Given the description of an element on the screen output the (x, y) to click on. 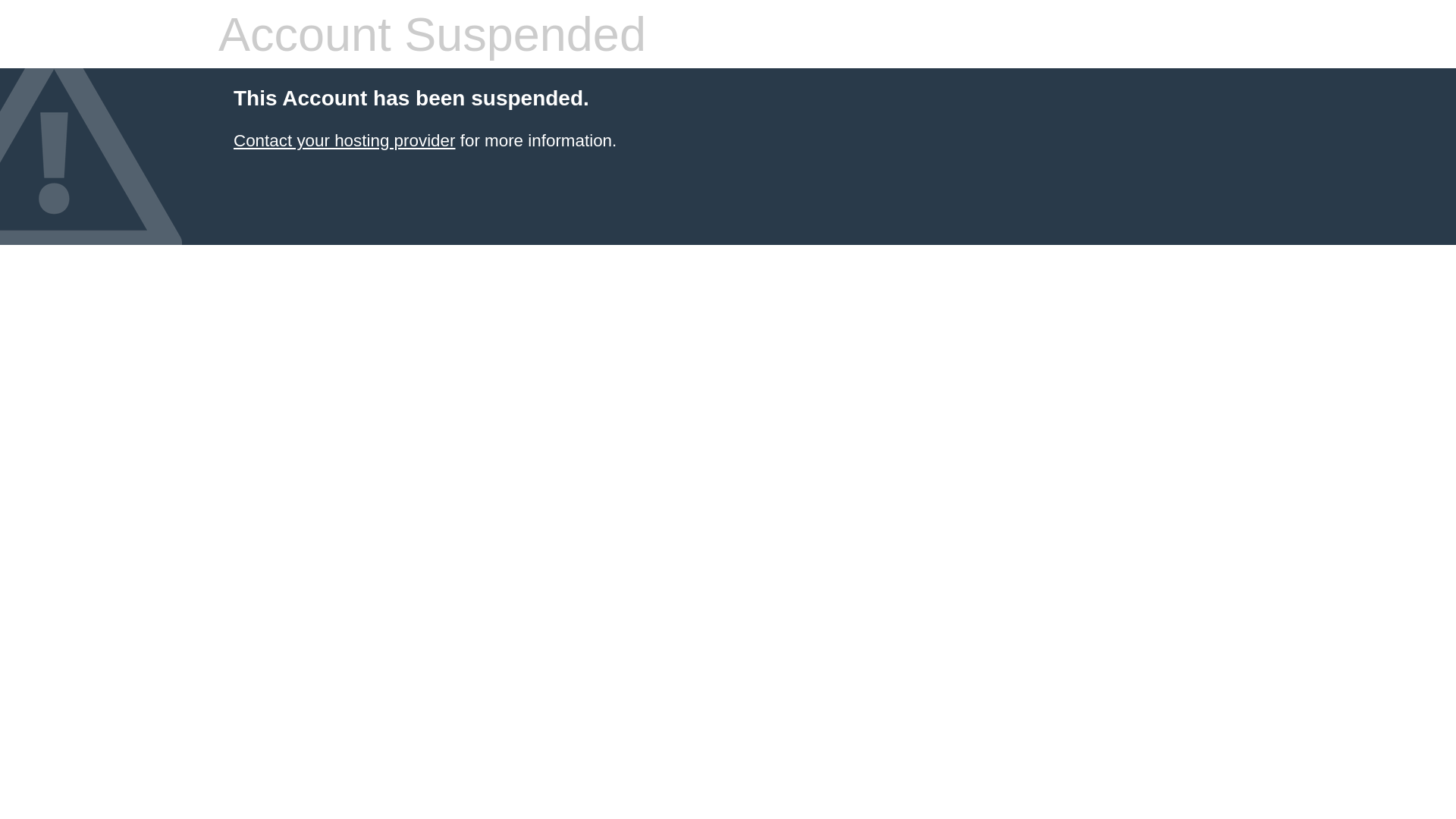
Contact your hosting provider Element type: text (344, 140)
